Given the description of an element on the screen output the (x, y) to click on. 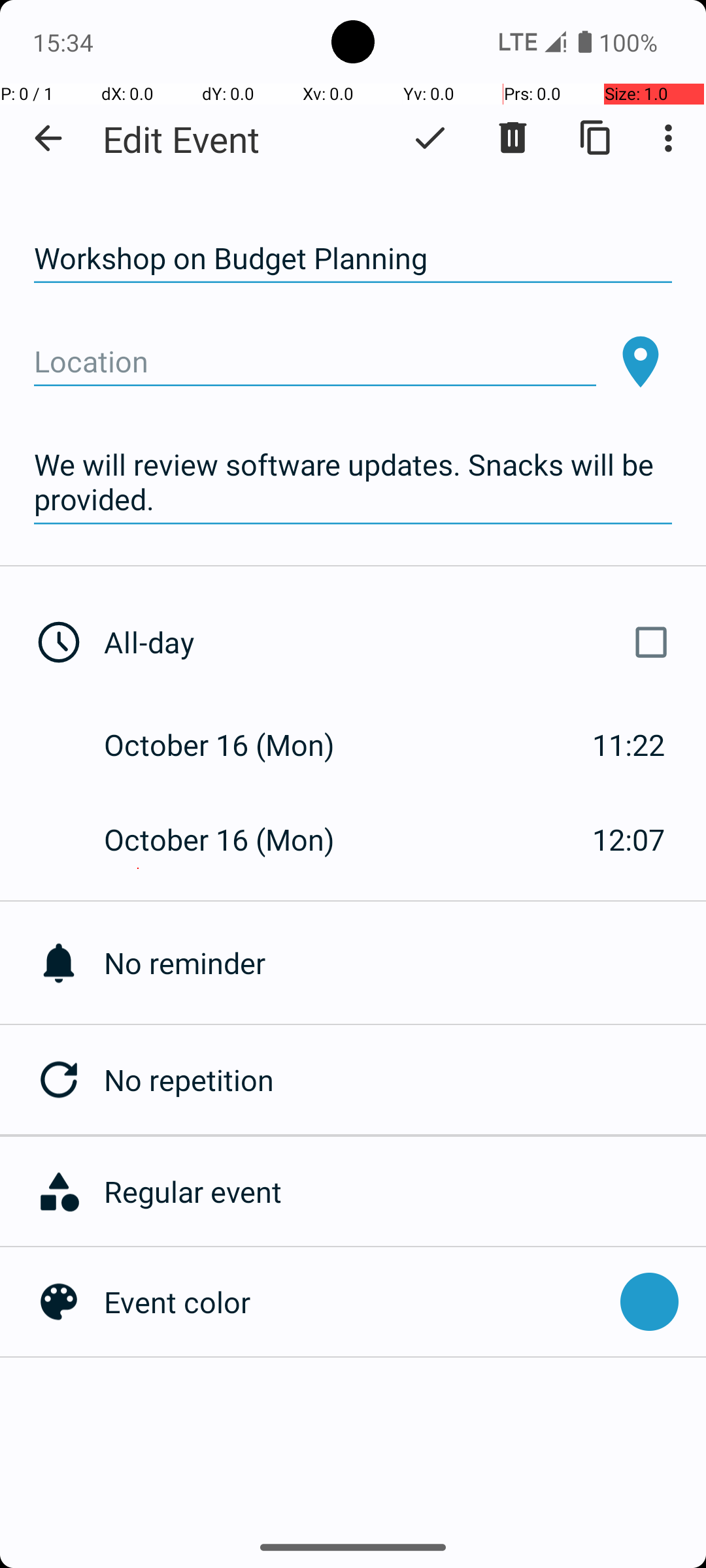
We will review software updates. Snacks will be provided. Element type: android.widget.EditText (352, 482)
11:22 Element type: android.widget.TextView (628, 744)
12:07 Element type: android.widget.TextView (628, 838)
